Given the description of an element on the screen output the (x, y) to click on. 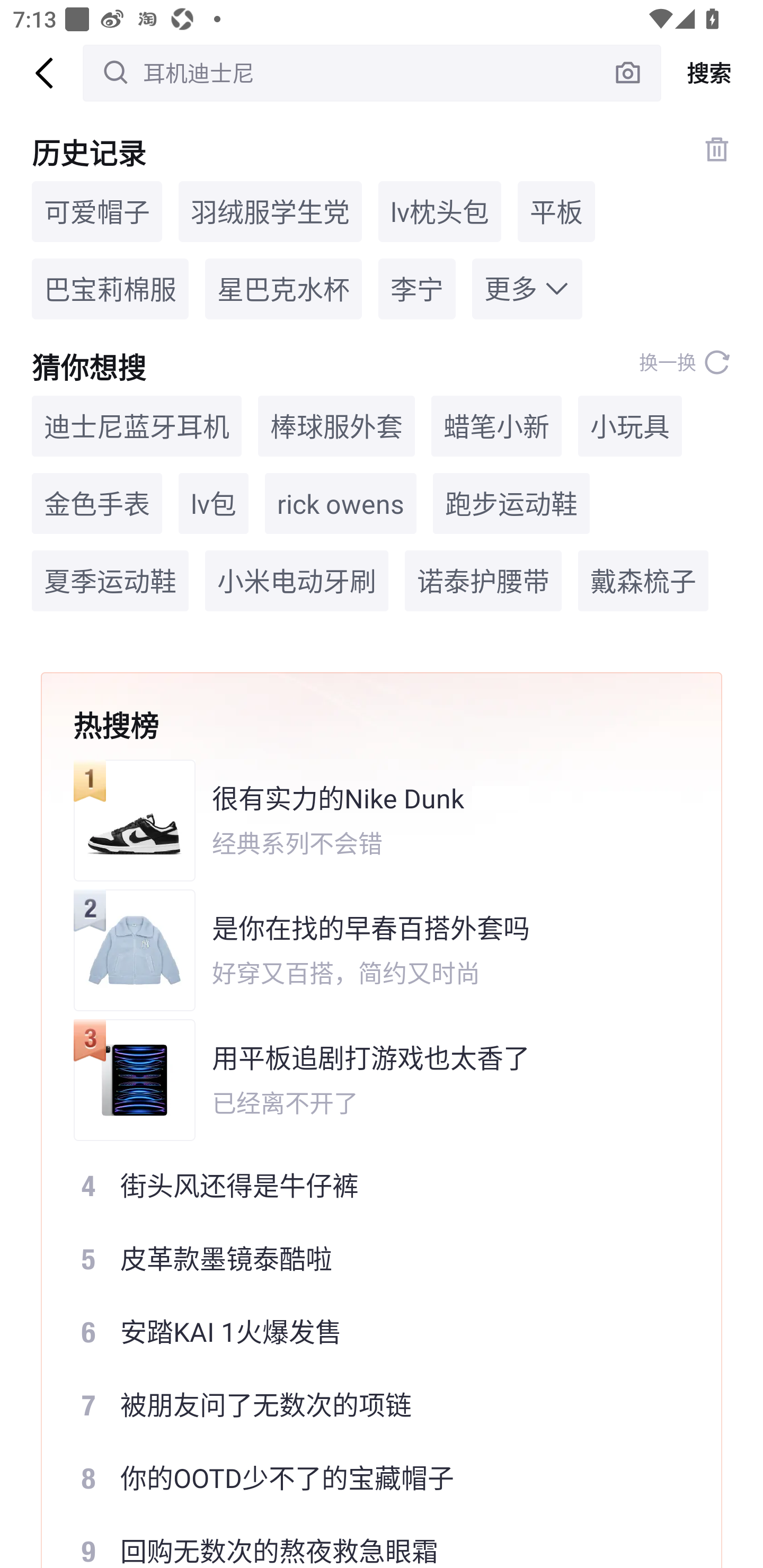
搜索 (712, 72)
耳机迪士尼 (371, 72)
可爱帽子 (96, 211)
羽绒服学生党 (269, 211)
lv枕头包 (439, 211)
平板 (556, 211)
巴宝莉棉服 (110, 288)
星巴克水杯 (283, 288)
李宁 (416, 288)
更多  (527, 288)
换一换 (684, 362)
迪士尼蓝牙耳机 (136, 425)
棒球服外套 (336, 425)
蜡笔小新 (496, 425)
小玩具 (630, 425)
金色手表 (96, 503)
lv包 (213, 503)
rick owens (340, 503)
跑步运动鞋 (510, 503)
夏季运动鞋 (110, 580)
小米电动牙刷 (296, 580)
诺泰护腰带 (483, 580)
戴森梳子 (643, 580)
很有实力的Nike Dunk 经典系列不会错 (369, 819)
是你在找的早春百搭外套吗 好穿又百搭，简约又时尚 (369, 950)
用平板追剧打游戏也太香了 已经离不开了 (369, 1080)
4 街头风还得是牛仔裤 (369, 1185)
5 皮革款墨镜泰酷啦 (369, 1258)
6 安踏KAI 1火爆发售 (369, 1331)
7 被朋友问了无数次的项链 (369, 1404)
8 你的OOTD少不了的宝藏帽子 (369, 1477)
9 回购无数次的熬夜救急眼霜 (369, 1541)
